Given the description of an element on the screen output the (x, y) to click on. 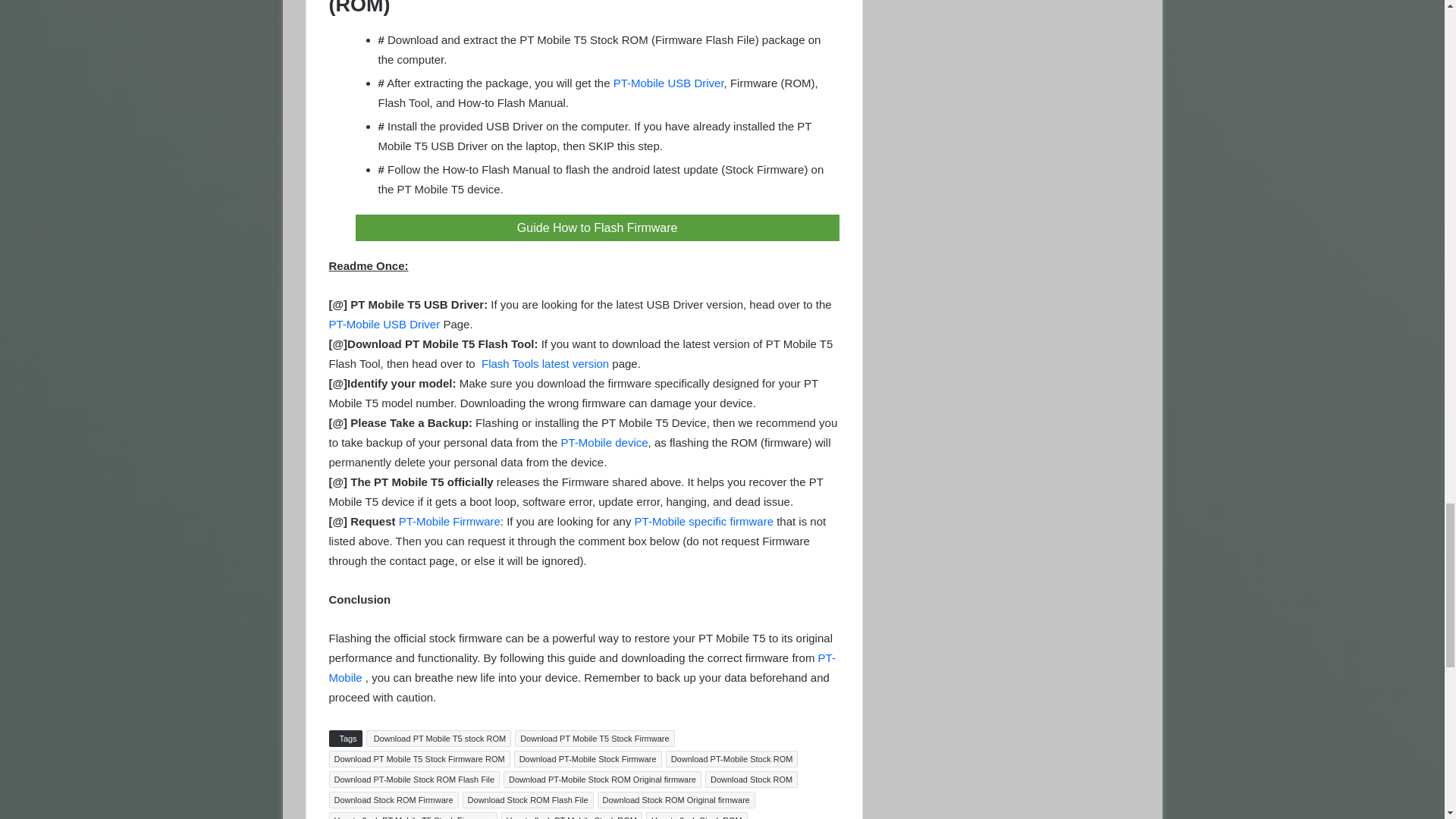
PT-Mobile specific firmware (703, 521)
Guide How to Flash Firmware (596, 227)
Download PT Mobile T5 Stock Firmware (594, 738)
Flash Tools latest version (543, 363)
PT-Mobile (582, 667)
PT-Mobile USB Driver (386, 323)
 Download PT Mobile T5 stock ROM (439, 738)
PT-Mobile Firmware (449, 521)
PT-Mobile USB Driver (667, 82)
PT-Mobile device (603, 441)
